Given the description of an element on the screen output the (x, y) to click on. 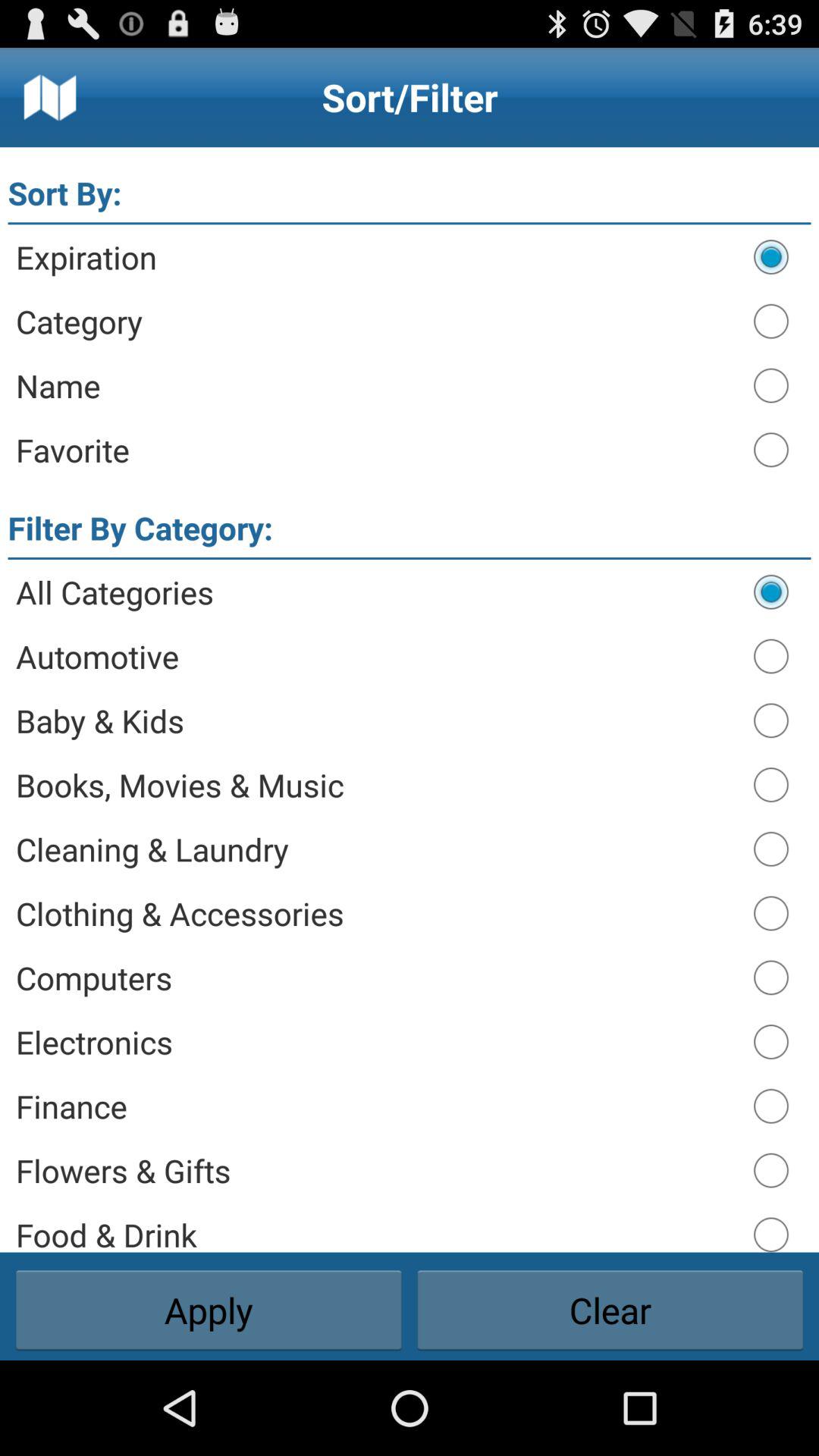
turn on the item below the electronics (377, 1106)
